Given the description of an element on the screen output the (x, y) to click on. 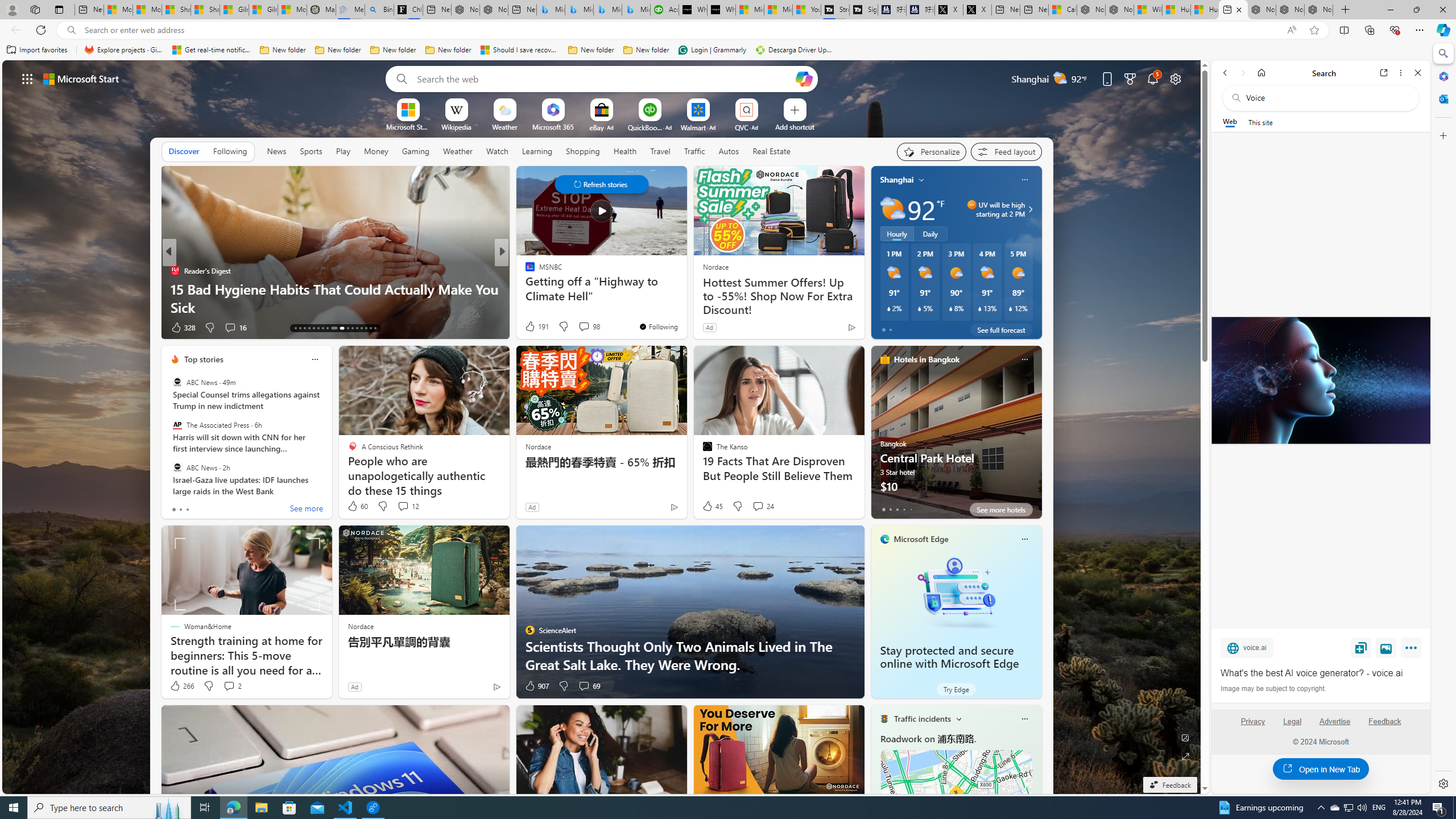
See more hotels (1000, 509)
Traffic incidents (921, 718)
Shanghai (896, 179)
Shopping (583, 151)
2 Like (529, 327)
Import favorites (36, 49)
Axios (524, 270)
Enter your search term (603, 78)
Play (342, 151)
Microsoft 365 (553, 126)
